Given the description of an element on the screen output the (x, y) to click on. 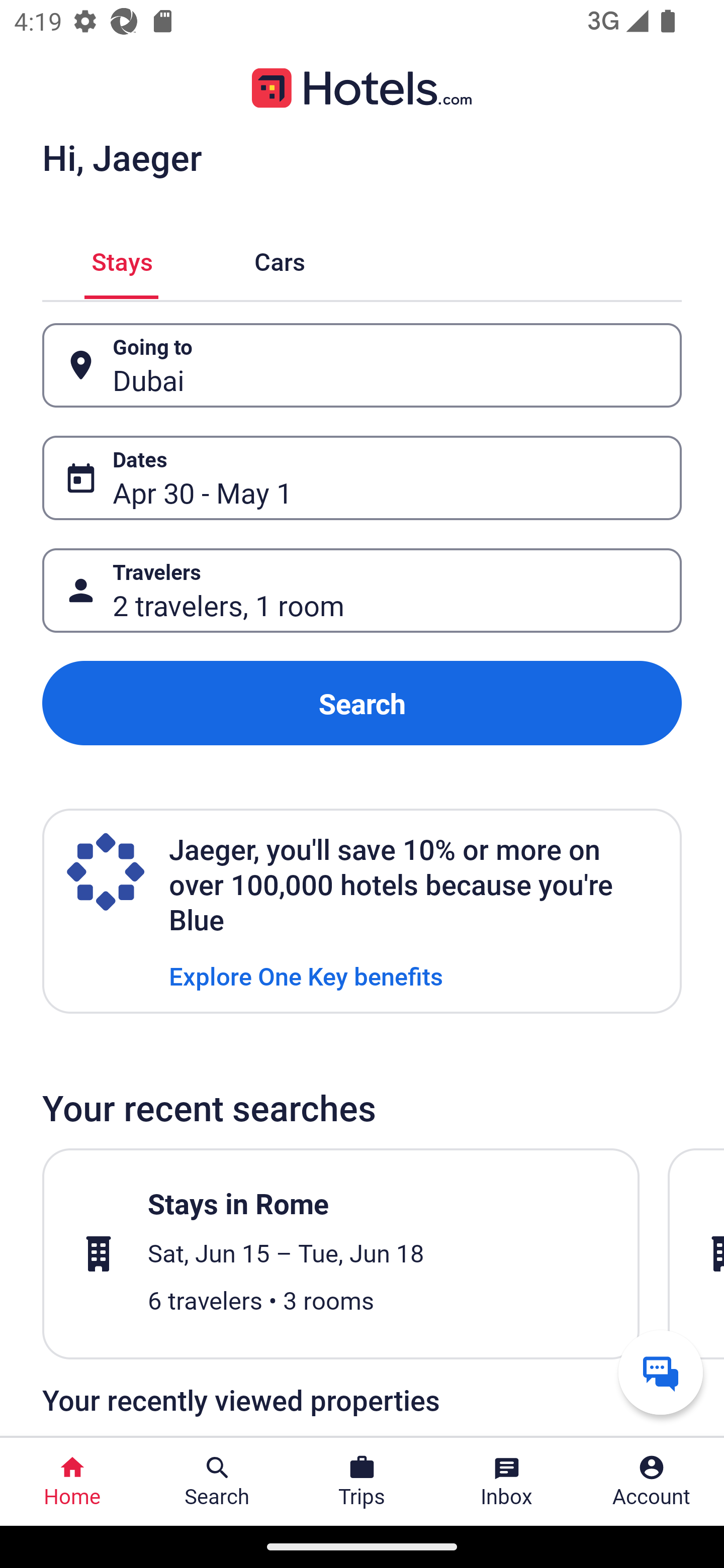
Hi, Jaeger (121, 156)
Cars (279, 259)
Going to Button Dubai (361, 365)
Dates Button Apr 30 - May 1 (361, 477)
Travelers Button 2 travelers, 1 room (361, 590)
Search (361, 702)
Get help from a virtual agent (660, 1371)
Search Search Button (216, 1481)
Trips Trips Button (361, 1481)
Inbox Inbox Button (506, 1481)
Account Profile. Button (651, 1481)
